Given the description of an element on the screen output the (x, y) to click on. 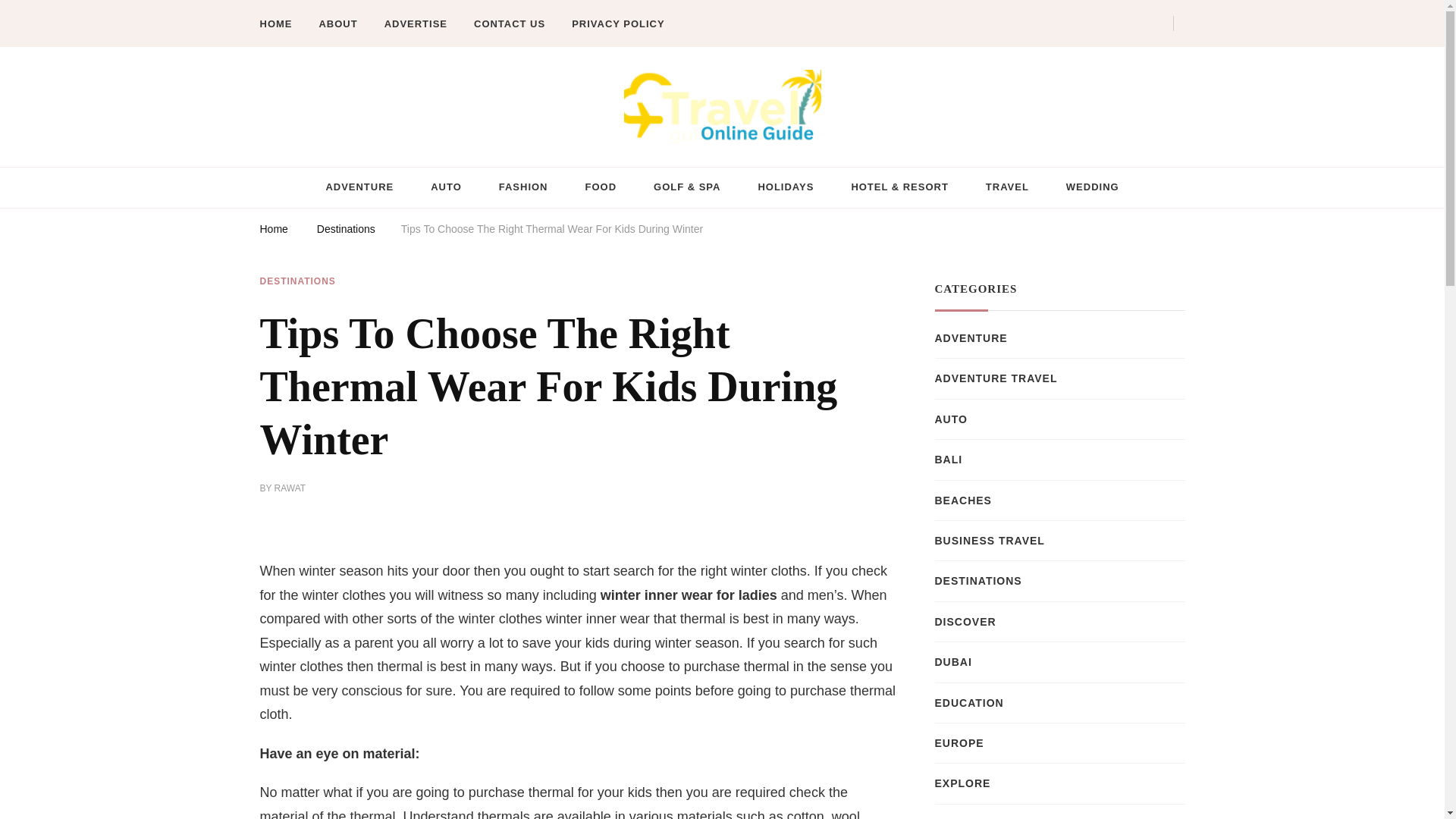
Tips To Choose The Right Thermal Wear For Kids During Winter (552, 231)
Home (272, 231)
FASHION (522, 187)
RAWAT (290, 489)
ABOUT (337, 23)
FOOD (601, 187)
HOME (280, 23)
TRAVEL (1007, 187)
WEDDING (1092, 187)
CONTACT US (509, 23)
ADVERTISE (415, 23)
Destinations (346, 231)
Travels Onlines (334, 158)
AUTO (446, 187)
PRIVACY POLICY (617, 23)
